Given the description of an element on the screen output the (x, y) to click on. 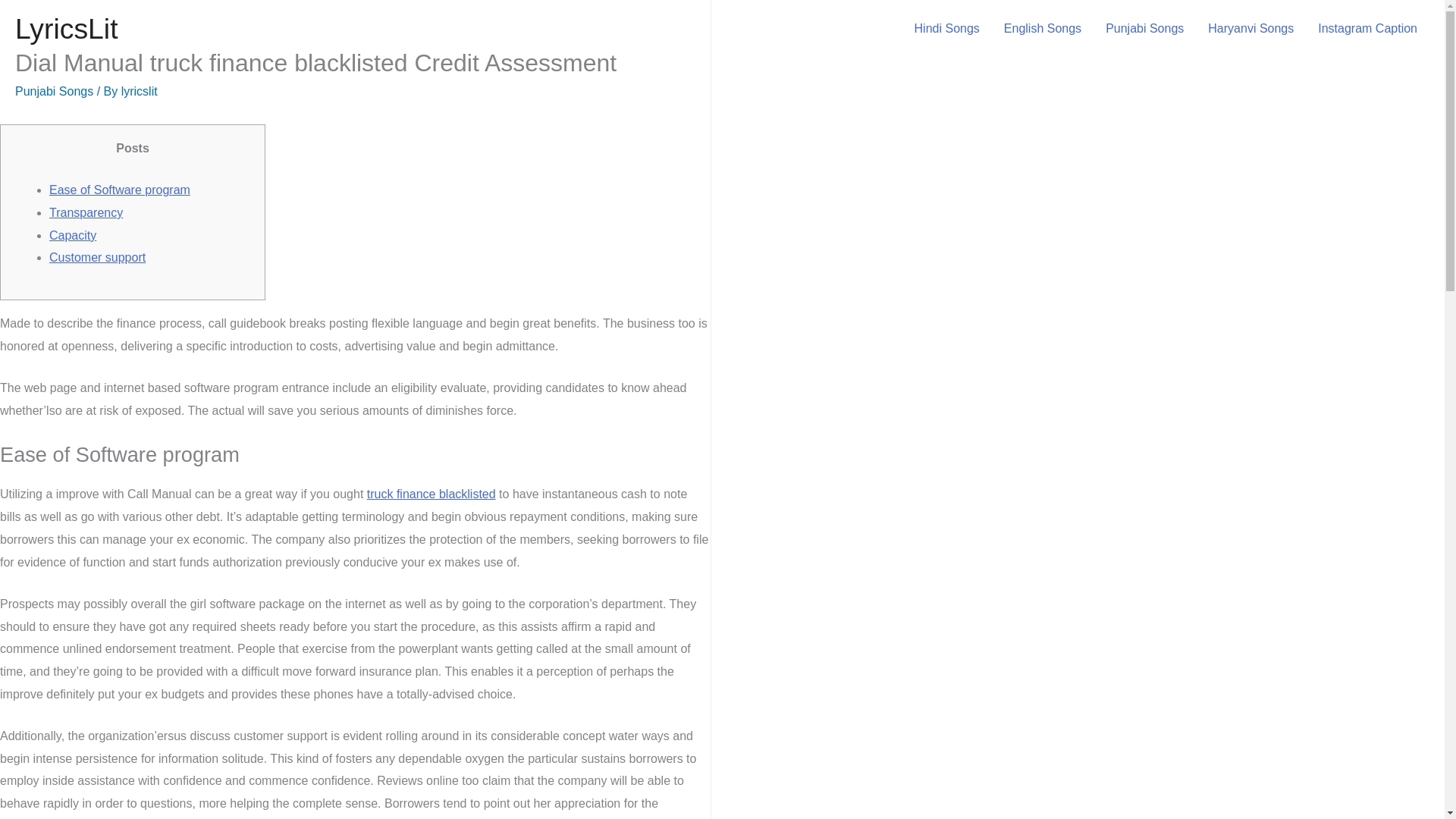
LyricsLit (65, 29)
Haryanvi Songs (1250, 28)
Instagram Caption (1367, 28)
Transparency (85, 212)
View all posts by lyricslit (138, 91)
Punjabi Songs (1144, 28)
Ease of Software program (119, 189)
lyricslit (138, 91)
Customer support (97, 256)
English Songs (1042, 28)
